Given the description of an element on the screen output the (x, y) to click on. 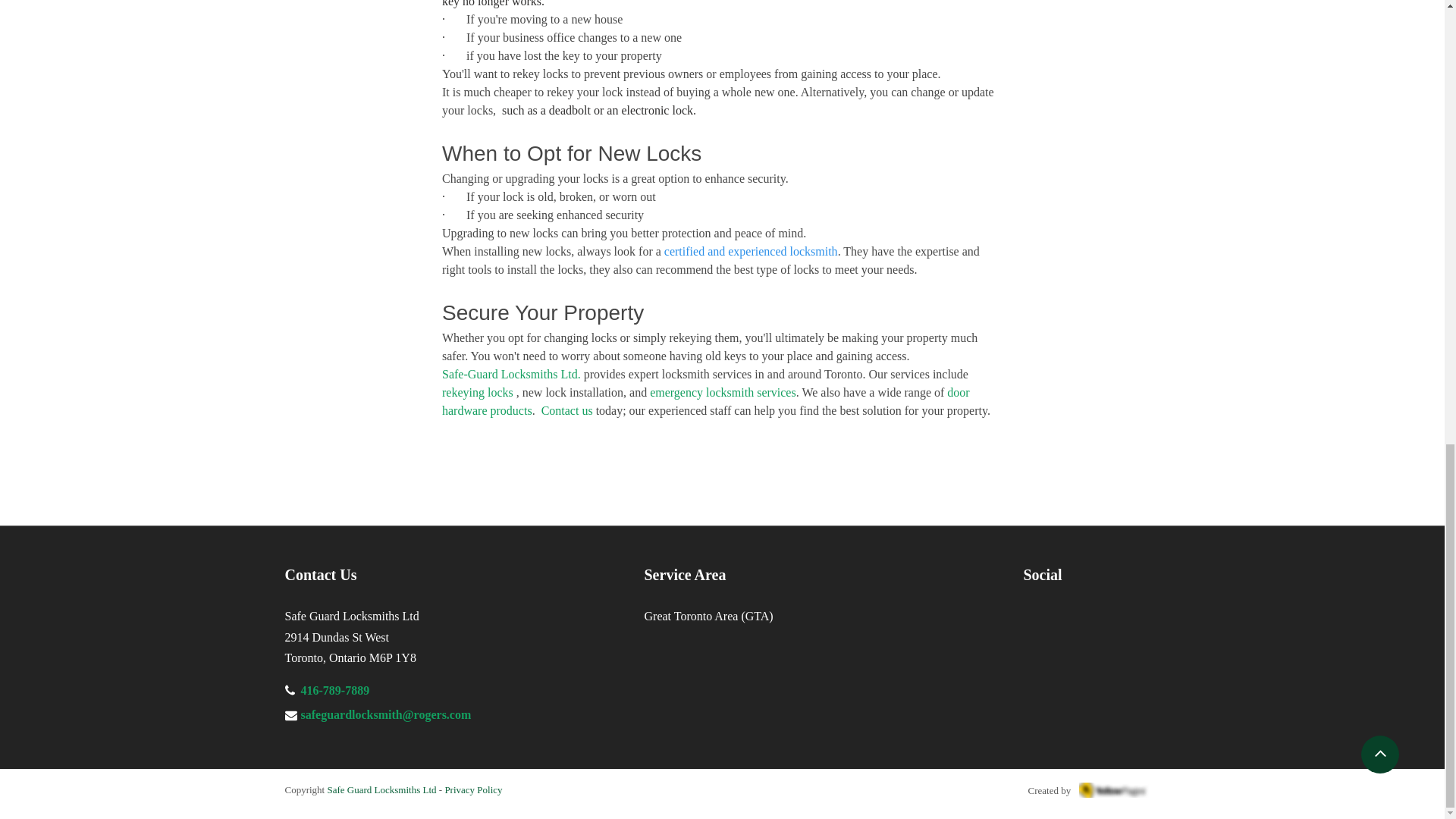
rekeying locks (476, 391)
Safe-Guard Locksmiths Ltd. (510, 373)
door hardware products (706, 400)
certified and experienced locksmith (750, 250)
Safe Guard Locksmiths Ltd (380, 789)
emergency locksmith services (722, 391)
Contact us (566, 409)
416-789-7889 (334, 689)
Privacy Policy (472, 789)
find the best solution (850, 409)
